Given the description of an element on the screen output the (x, y) to click on. 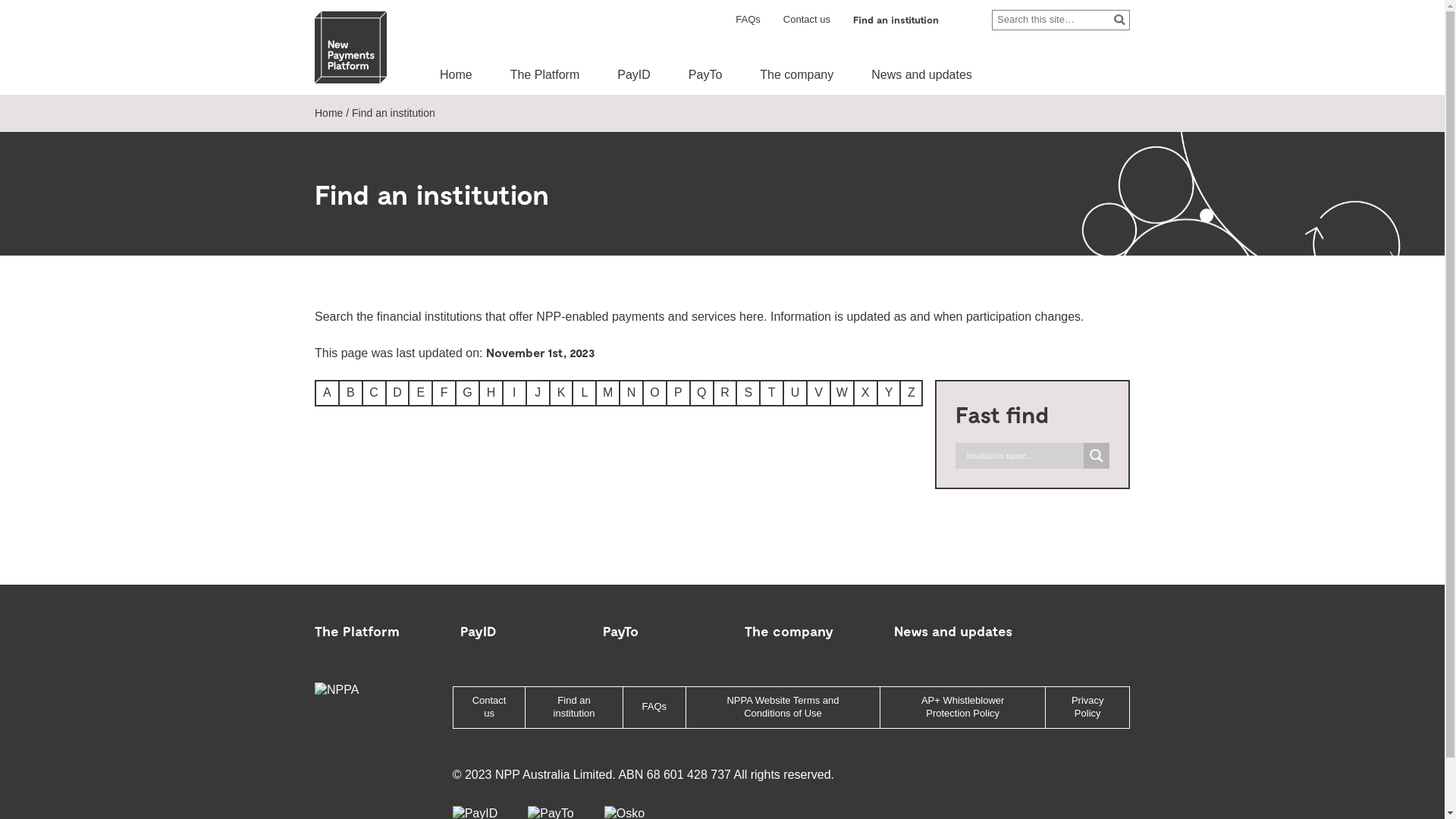
AP+ Whistleblower Protection Policy Element type: text (962, 707)
News and updates Element type: text (953, 630)
The Platform Element type: text (545, 74)
The company Element type: text (788, 630)
NPPA Element type: hover (350, 690)
The Platform Element type: text (356, 630)
NPPA Element type: hover (350, 47)
Home Element type: text (455, 74)
The company Element type: text (796, 74)
PayTo Element type: text (704, 74)
Find an institution Element type: text (573, 707)
Home Element type: text (328, 112)
PayID Element type: text (633, 74)
Privacy Policy Element type: text (1087, 707)
Find an institution Element type: text (895, 19)
Contact us Element type: text (489, 707)
PayID Element type: text (477, 630)
PayTo Element type: text (619, 630)
NPPA Website Terms and Conditions of Use Element type: text (782, 707)
Search for: Element type: hover (1060, 19)
Contact us Element type: text (806, 19)
News and updates Element type: text (921, 74)
FAQs Element type: text (654, 707)
FAQs Element type: text (747, 19)
